Given the description of an element on the screen output the (x, y) to click on. 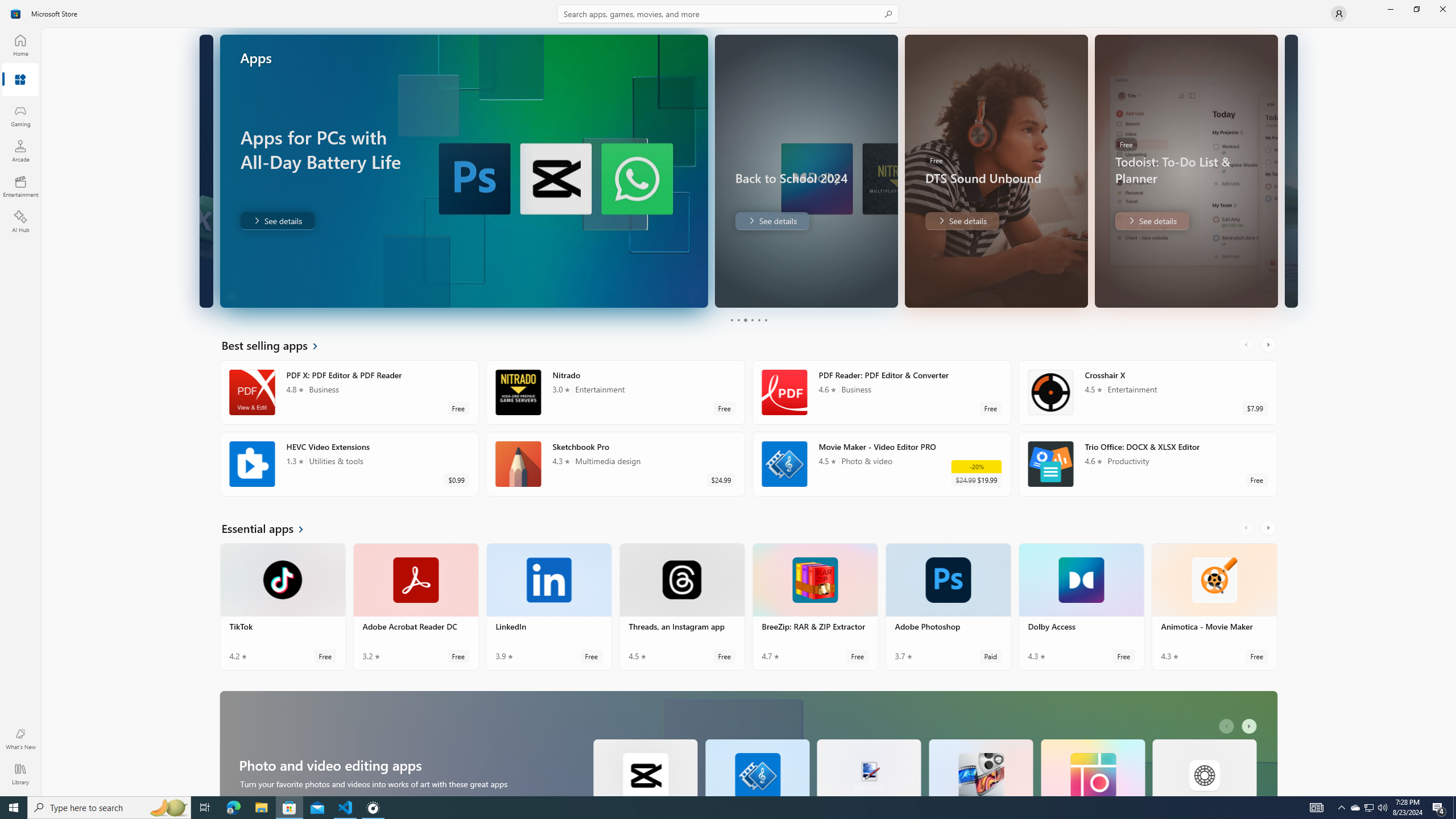
Page 4 (751, 319)
AutomationID: RightScrollButton (1250, 726)
Apps for PCs with All-Day Battery Life. .  . See details (277, 221)
Page 2 (738, 319)
LinkedIn. Average rating of 3.9 out of five stars. Free   (548, 606)
